Given the description of an element on the screen output the (x, y) to click on. 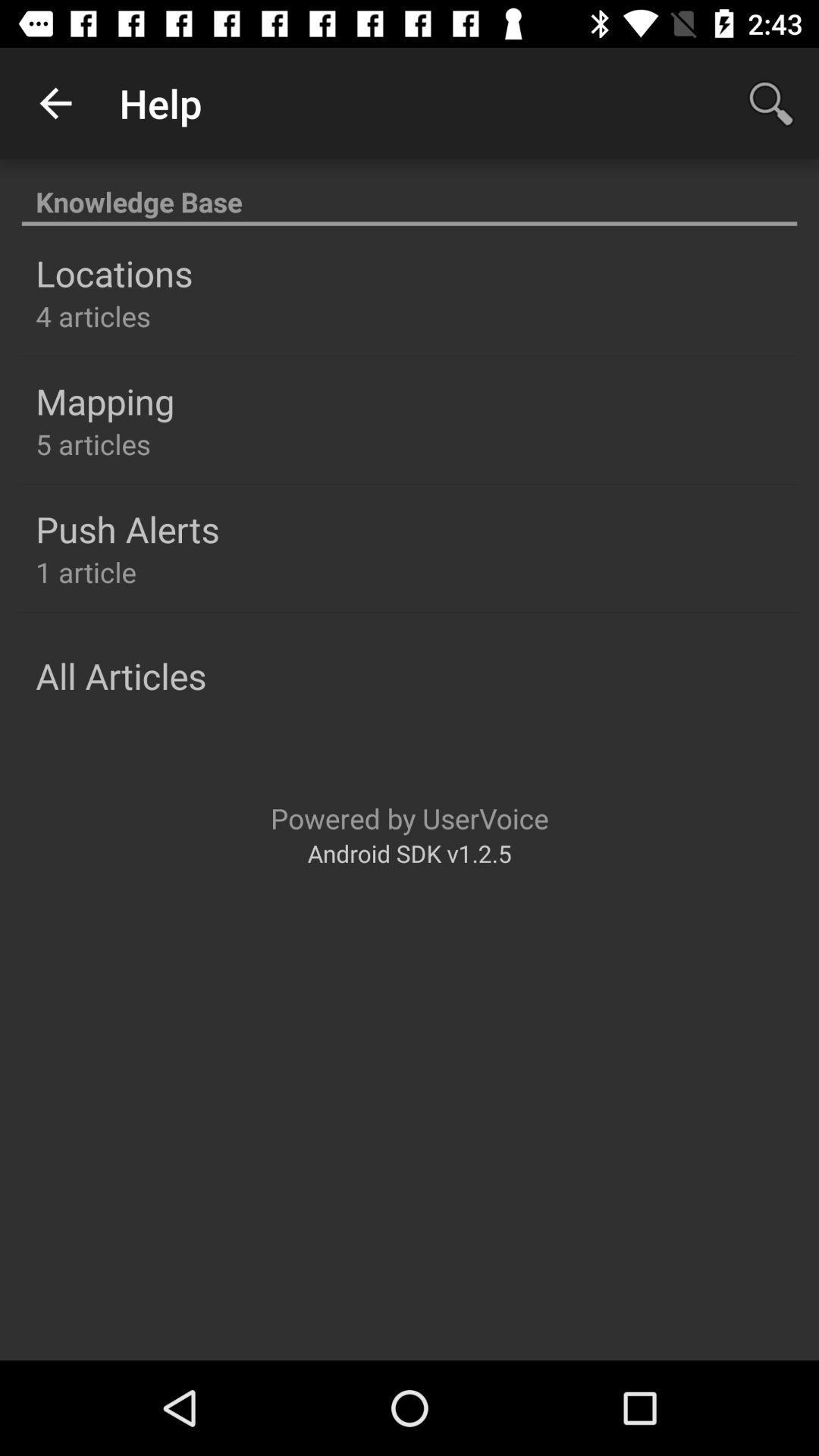
click the icon below the knowledge base (113, 273)
